Given the description of an element on the screen output the (x, y) to click on. 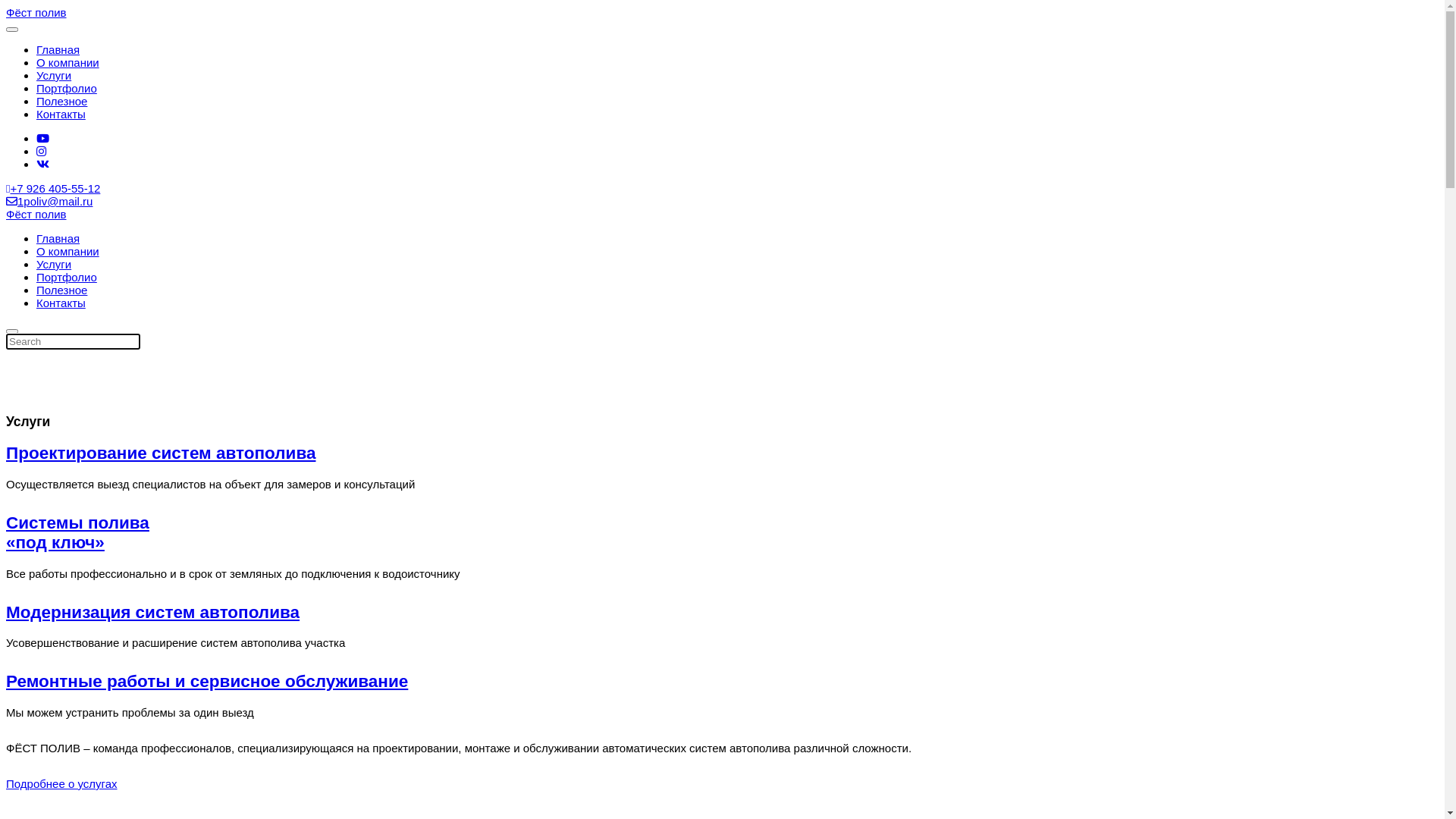
+7 926 405-55-12 Element type: text (53, 188)
1poliv@mail.ru Element type: text (49, 200)
